Given the description of an element on the screen output the (x, y) to click on. 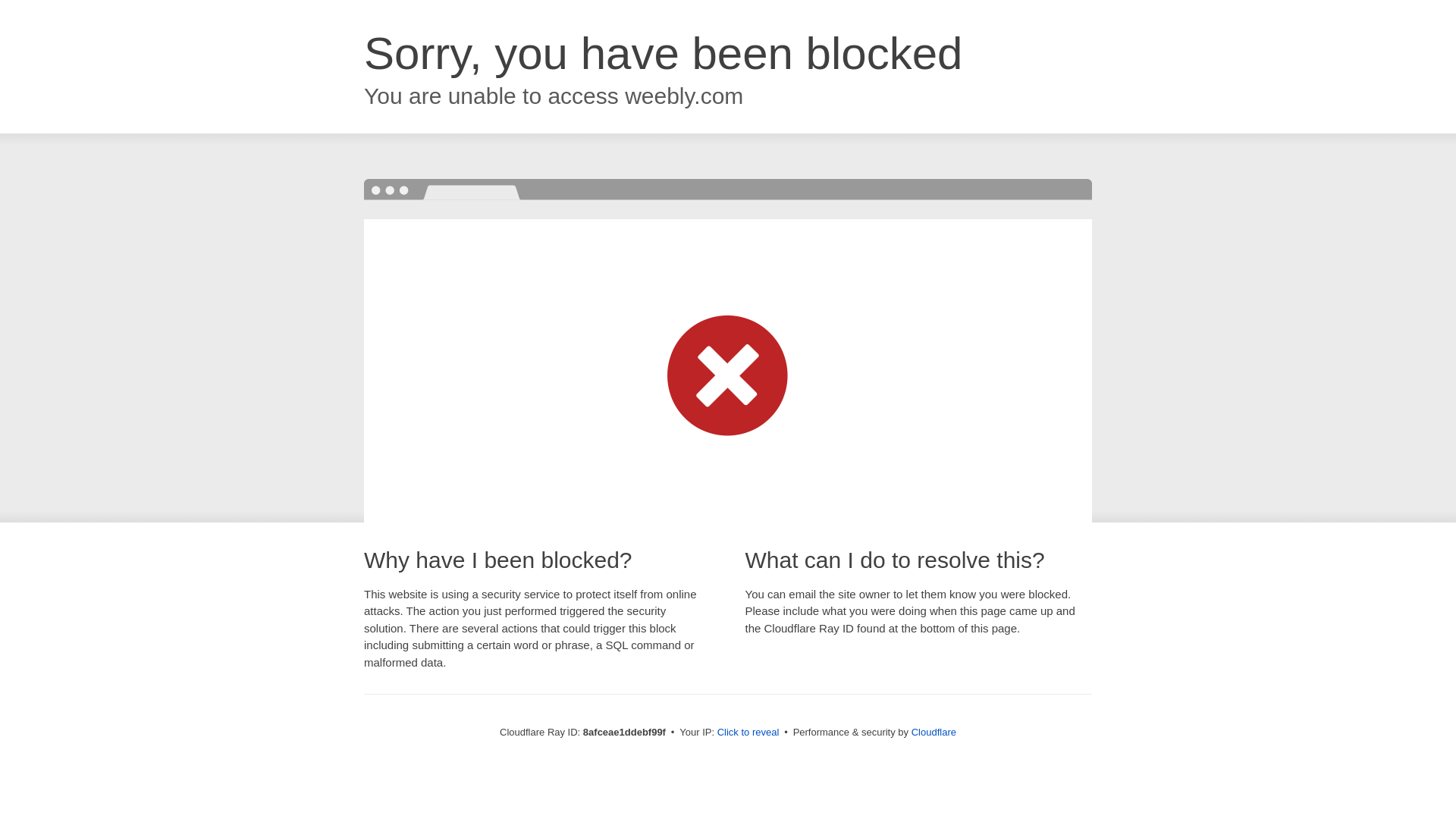
Click to reveal (747, 732)
Cloudflare (933, 731)
